Given the description of an element on the screen output the (x, y) to click on. 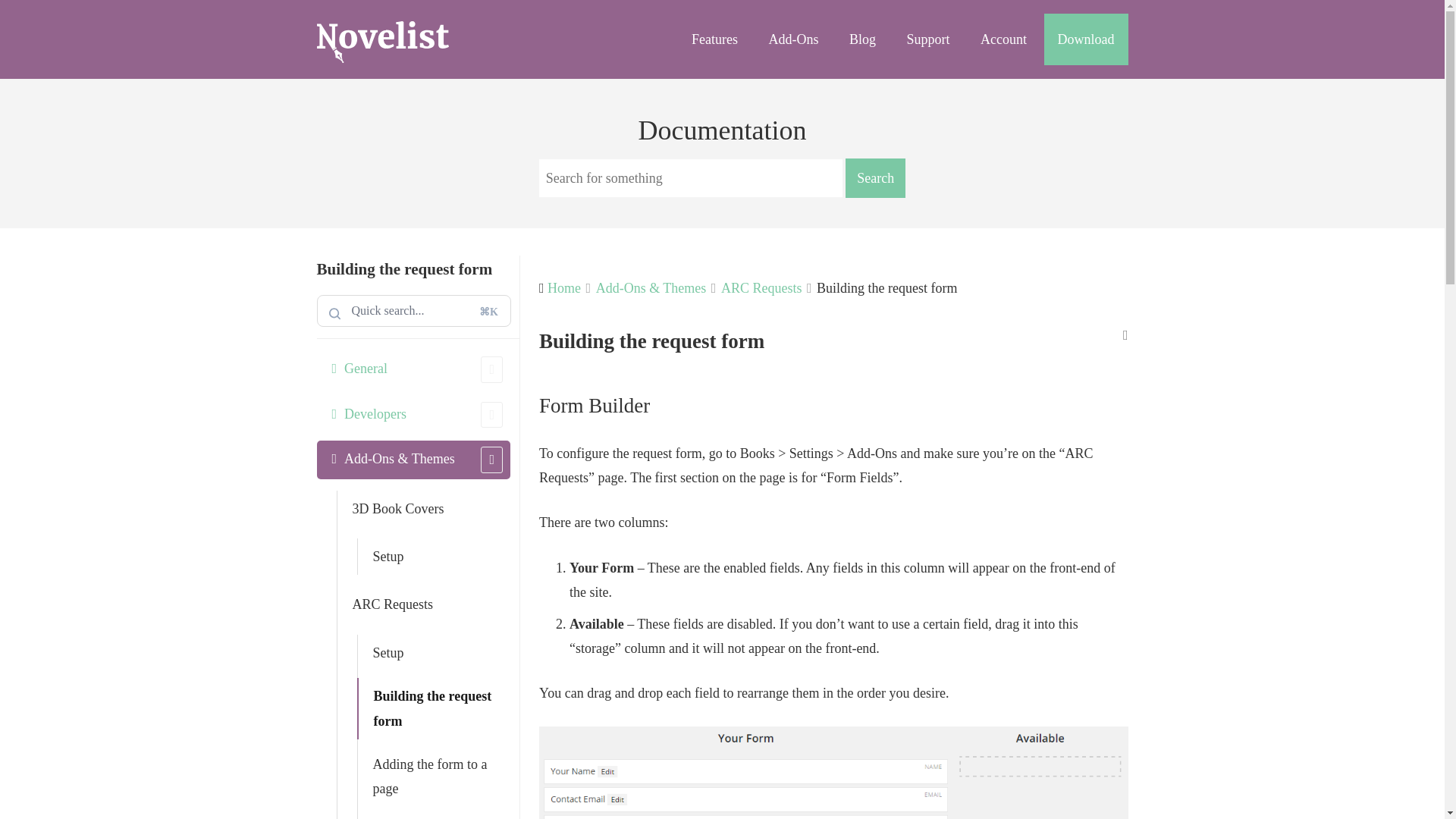
Search for: (414, 310)
Support (928, 39)
Account (1003, 39)
Blog (862, 39)
Download (1084, 39)
Developers (414, 414)
Search (875, 178)
Features (714, 39)
General (414, 369)
Add-Ons (792, 39)
